Given the description of an element on the screen output the (x, y) to click on. 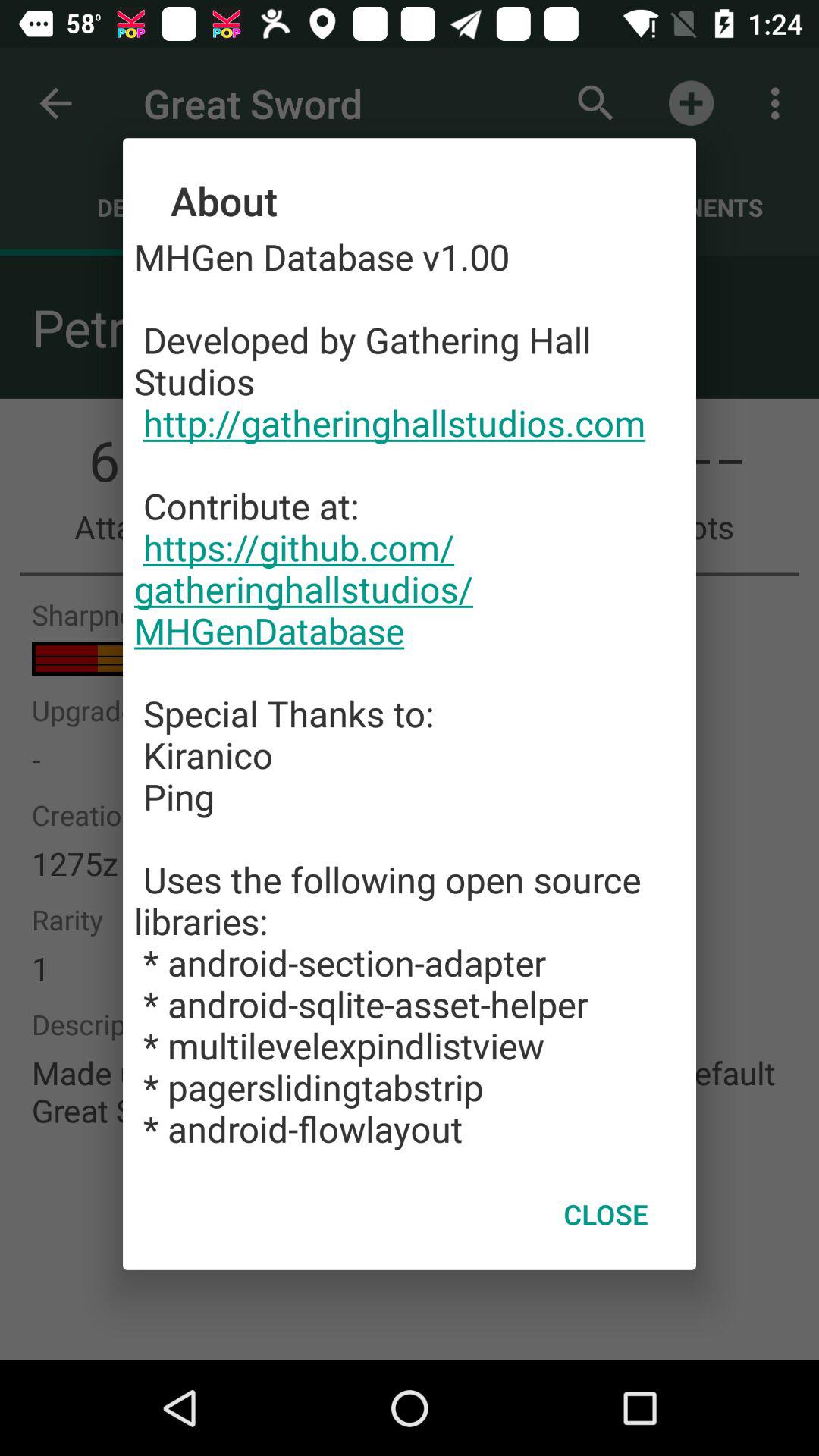
choose the icon at the bottom right corner (605, 1214)
